Given the description of an element on the screen output the (x, y) to click on. 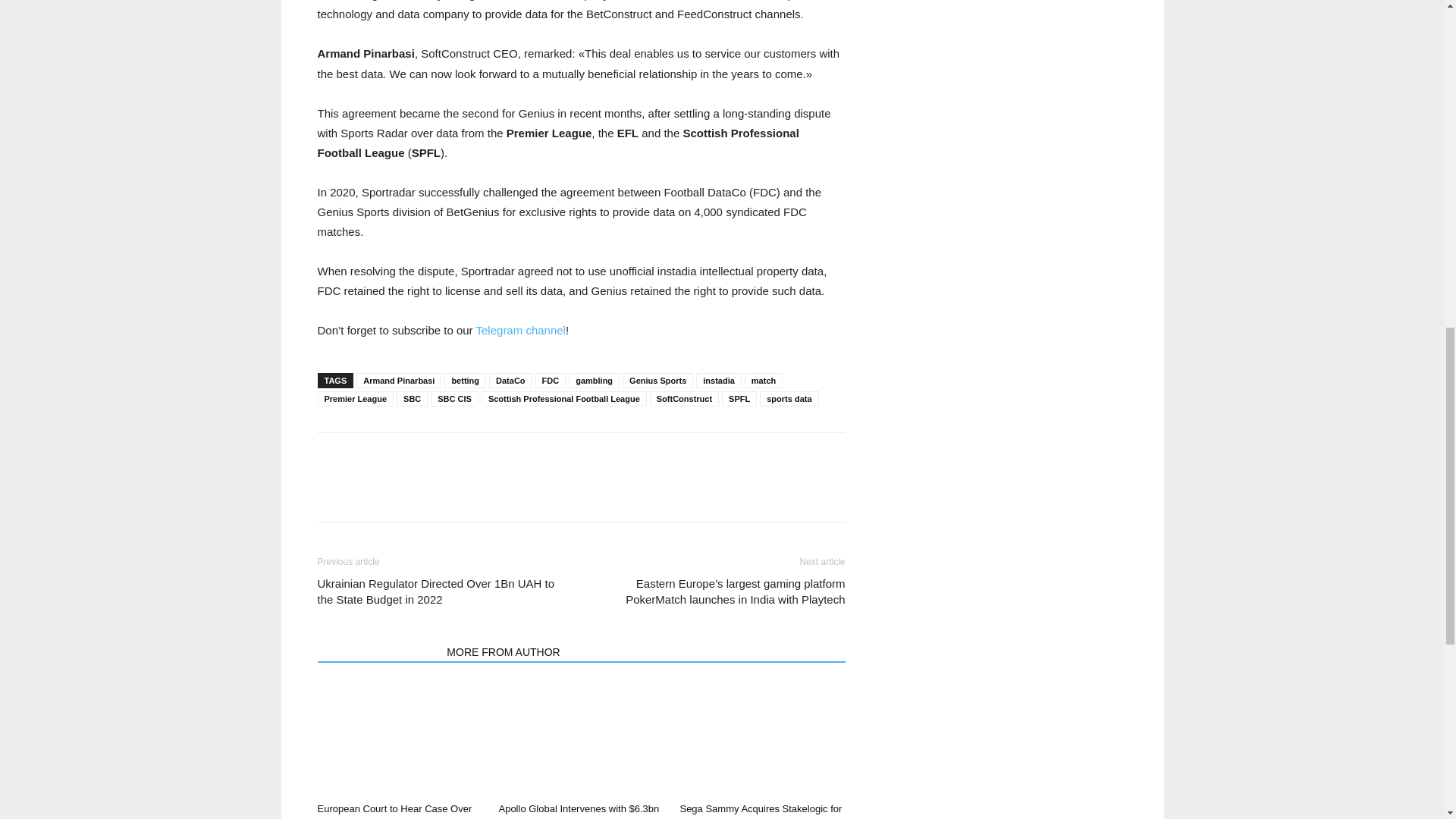
bottomFacebookLike (430, 456)
